Given the description of an element on the screen output the (x, y) to click on. 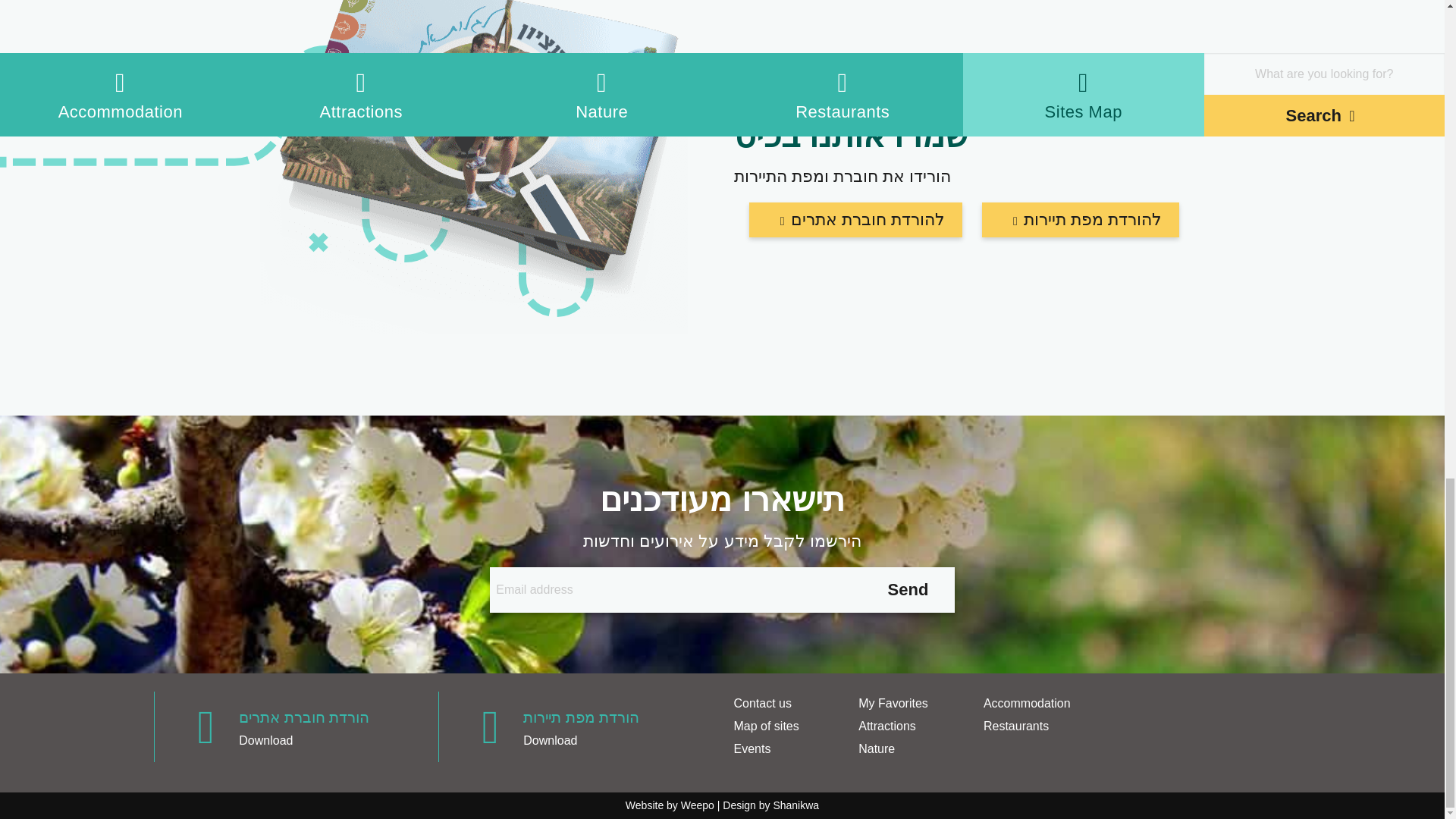
Send (908, 589)
